Given the description of an element on the screen output the (x, y) to click on. 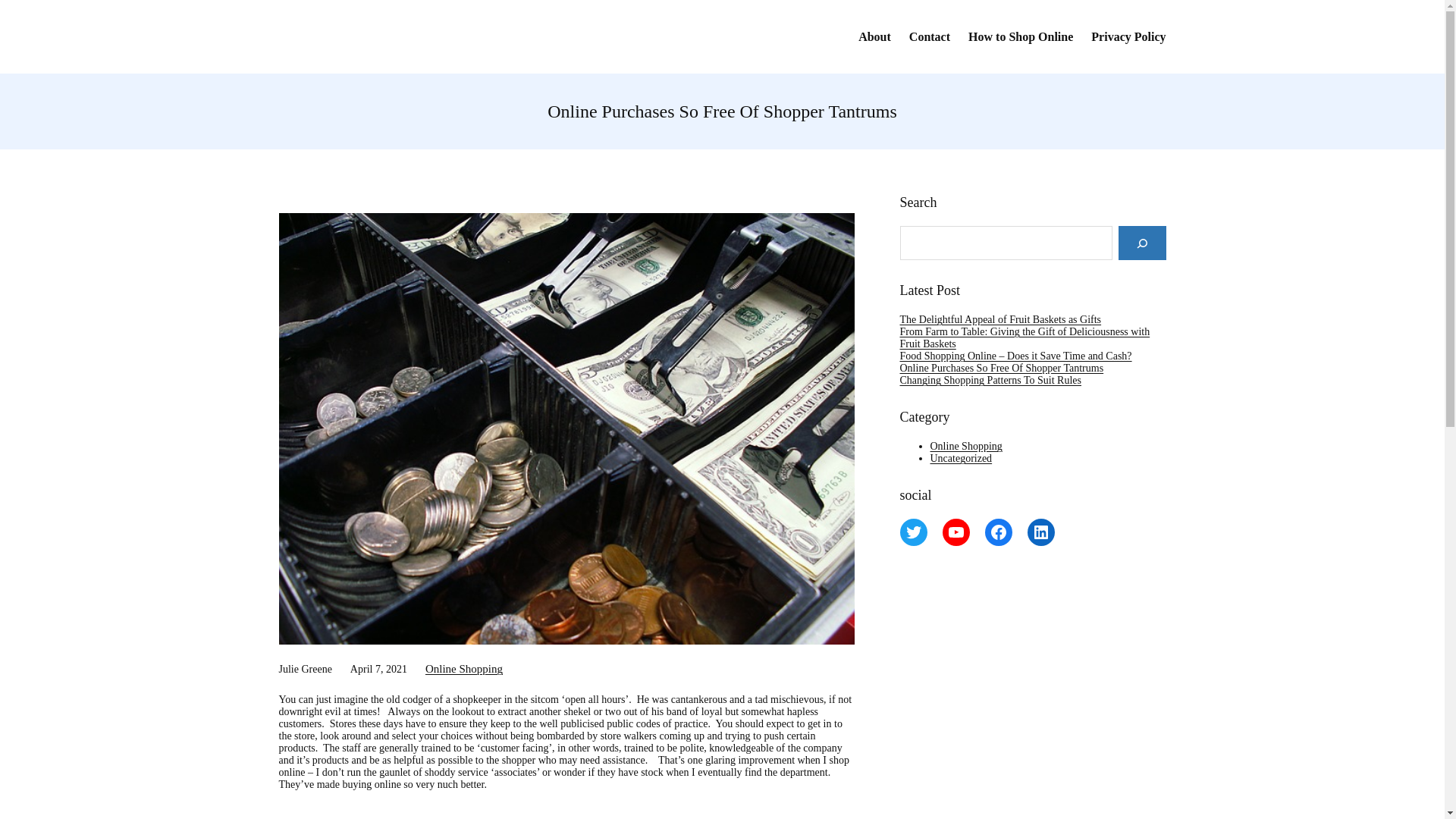
Privacy Policy (1128, 37)
YouTube (955, 532)
Uncategorized (960, 458)
Waveney Farmshop Online (420, 35)
About (875, 37)
Twitter (912, 532)
The Delightful Appeal of Fruit Baskets as Gifts (999, 319)
Online Purchases So Free Of Shopper Tantrums (1001, 367)
Contact (929, 37)
Changing Shopping Patterns To Suit Rules (990, 379)
Facebook (997, 532)
LinkedIn (1040, 532)
Online Shopping (965, 446)
Online Shopping (463, 668)
